Given the description of an element on the screen output the (x, y) to click on. 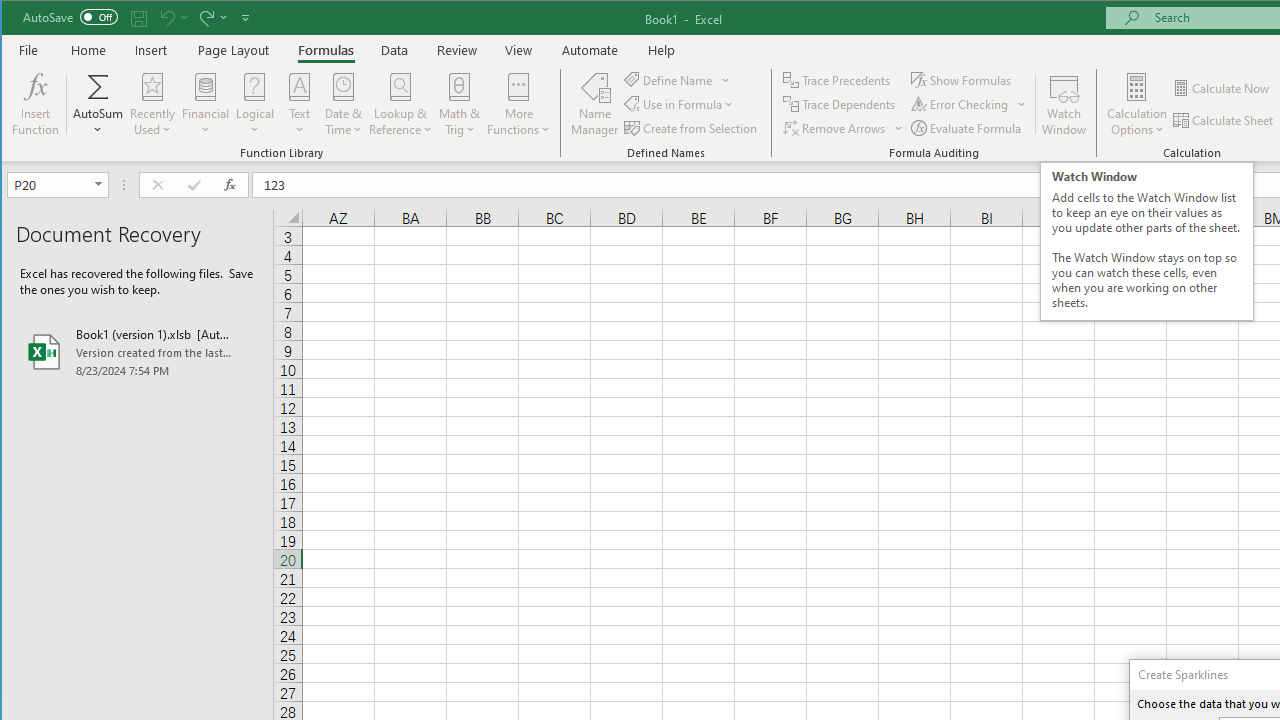
Calculate Now (1222, 88)
Use in Formula (679, 103)
Define Name... (669, 80)
Create from Selection... (692, 127)
Financial (205, 104)
Math & Trig (459, 104)
Error Checking... (961, 103)
